Given the description of an element on the screen output the (x, y) to click on. 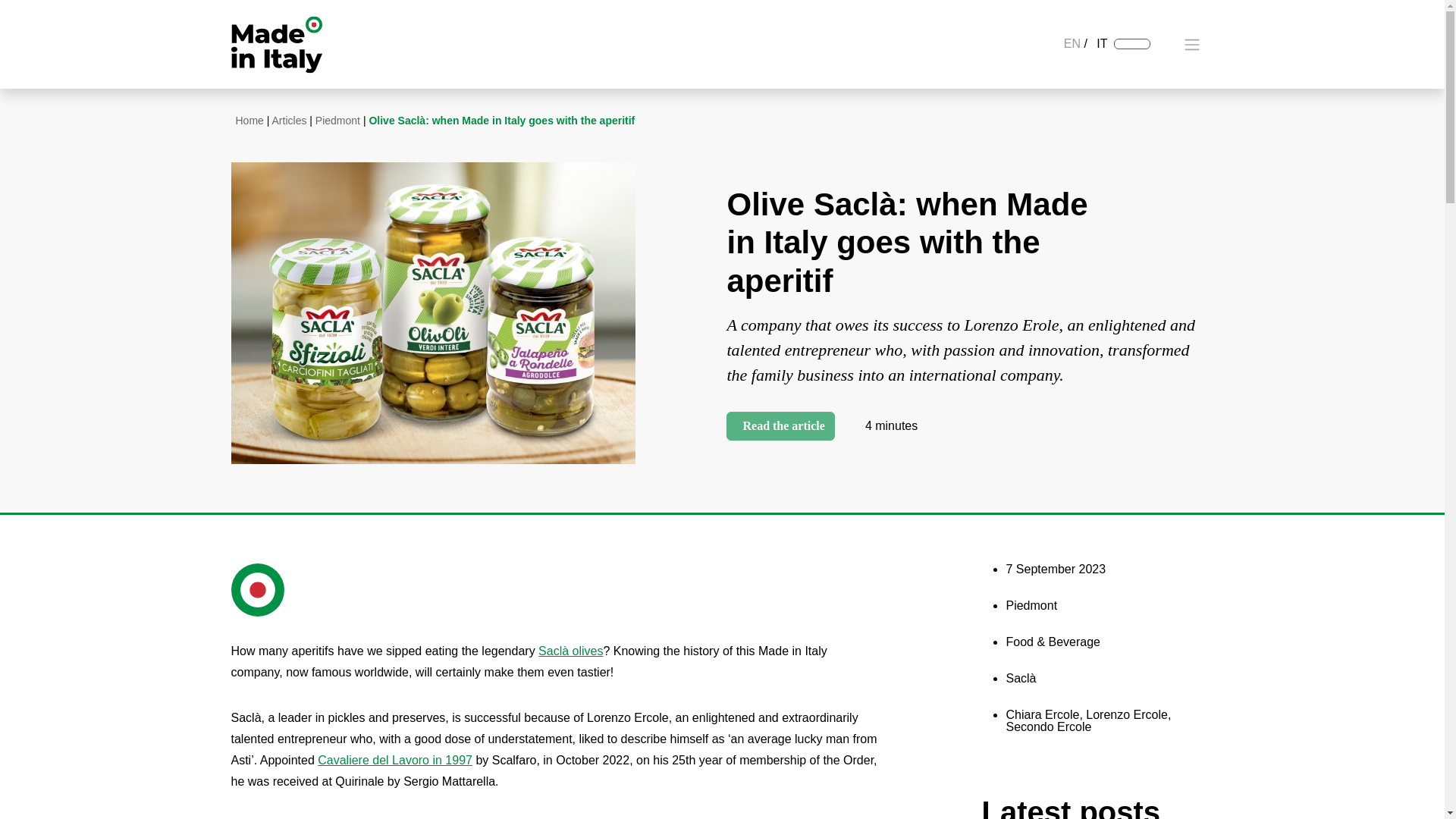
Piedmont (337, 120)
IT (1101, 42)
EN (1072, 42)
Read the article (780, 425)
Cavaliere del Lavoro in 1997 (394, 759)
Home (248, 120)
Articles (289, 120)
Click to play or pause article reading (780, 425)
